Given the description of an element on the screen output the (x, y) to click on. 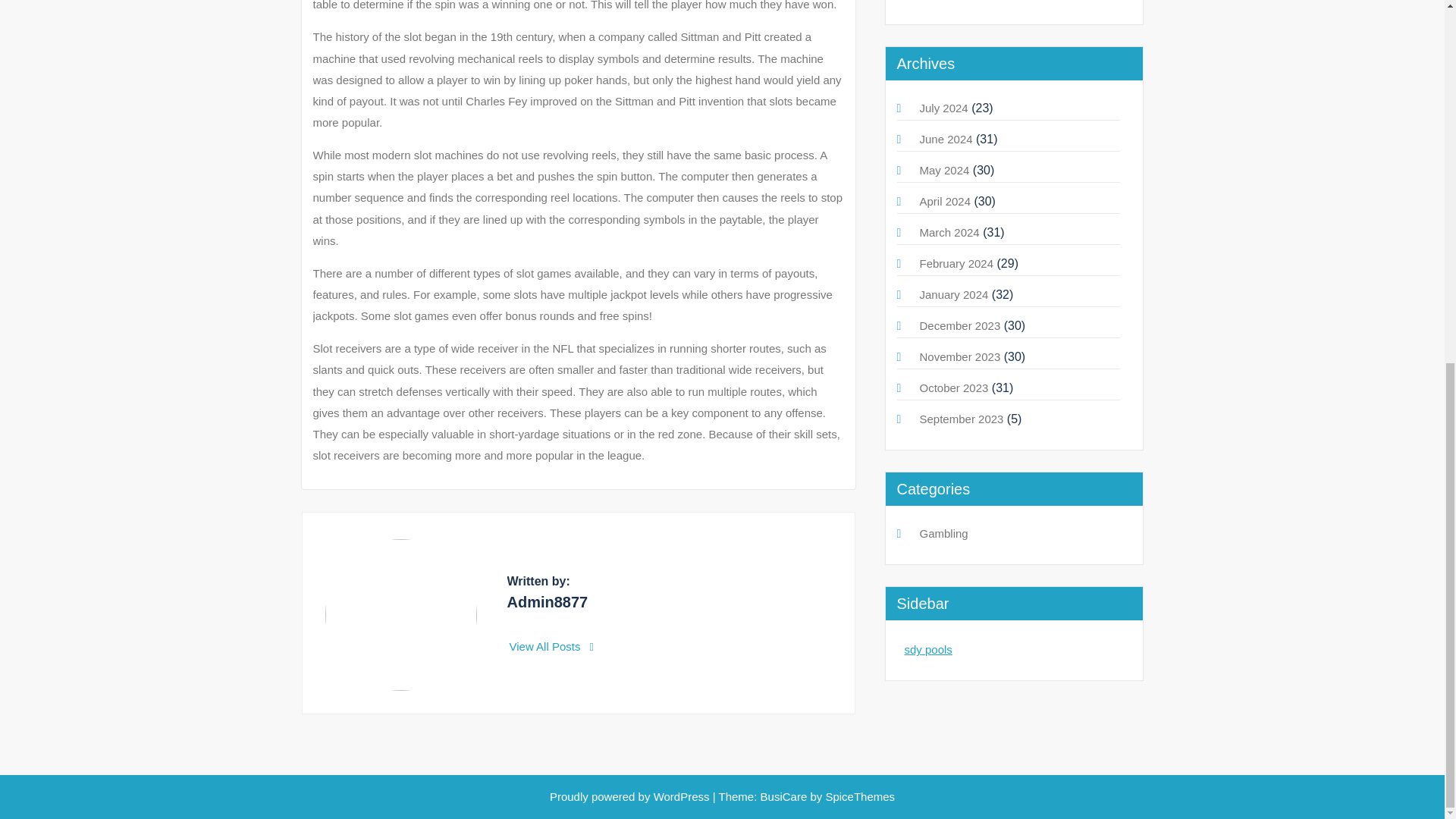
View All Posts (551, 645)
January 2024 (953, 294)
June 2024 (945, 138)
September 2023 (960, 418)
SpiceThemes (858, 796)
March 2024 (948, 232)
May 2024 (943, 169)
December 2023 (959, 325)
April 2024 (944, 201)
November 2023 (959, 356)
October 2023 (953, 387)
Gambling (943, 533)
BusiCare (785, 796)
sdy pools (928, 649)
July 2024 (943, 107)
